Given the description of an element on the screen output the (x, y) to click on. 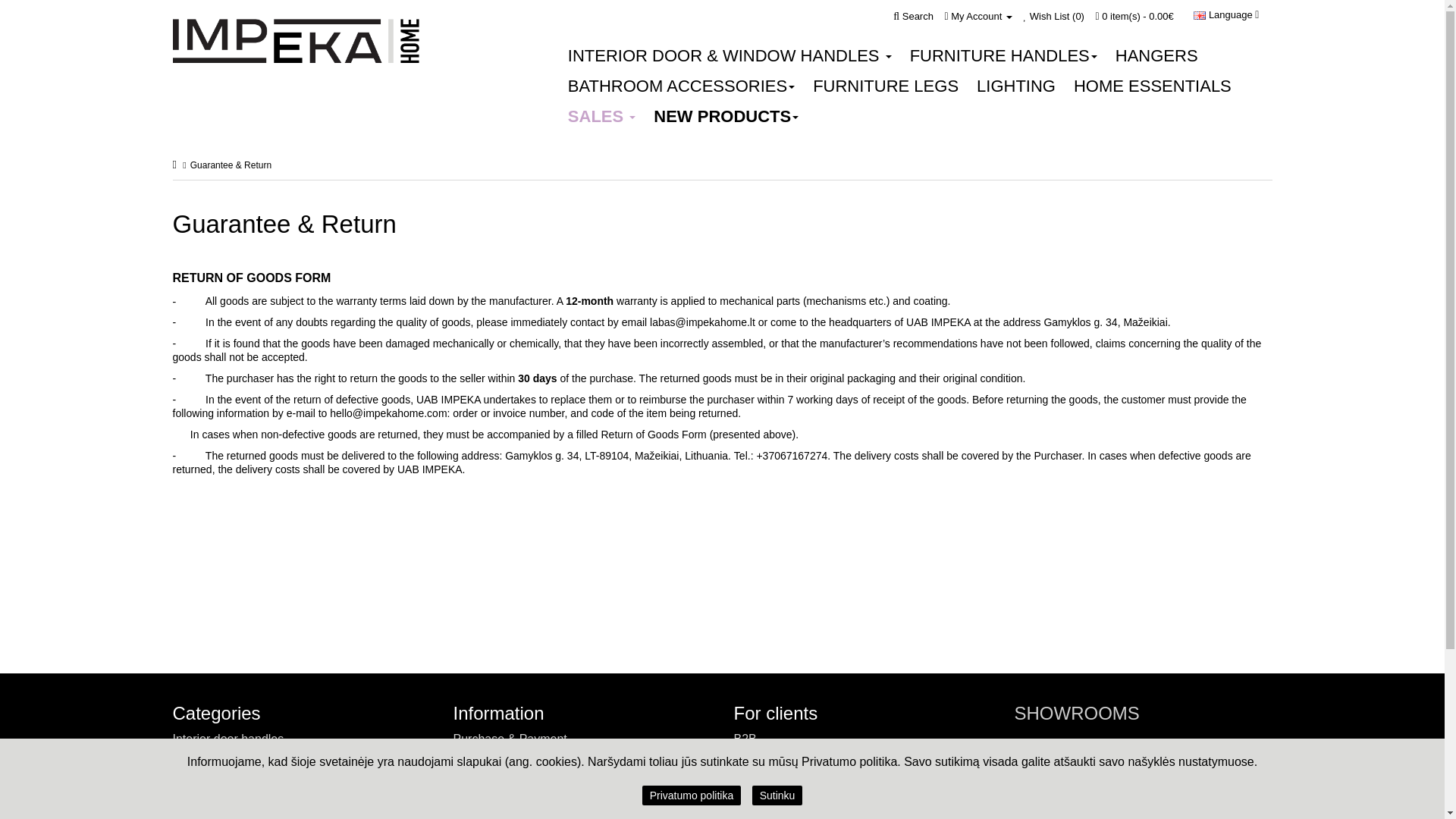
English (1199, 15)
My Account (977, 16)
BATHROOM ACCESSORIES (681, 86)
LIGHTING (1016, 86)
HANGERS (1156, 55)
Language  (1226, 15)
HOME ESSENTIALS (1152, 86)
Search (913, 16)
My Account (977, 16)
Impeka home (296, 40)
FURNITURE LEGS (885, 86)
SALES (602, 116)
FURNITURE HANDLES (1003, 55)
